Given the description of an element on the screen output the (x, y) to click on. 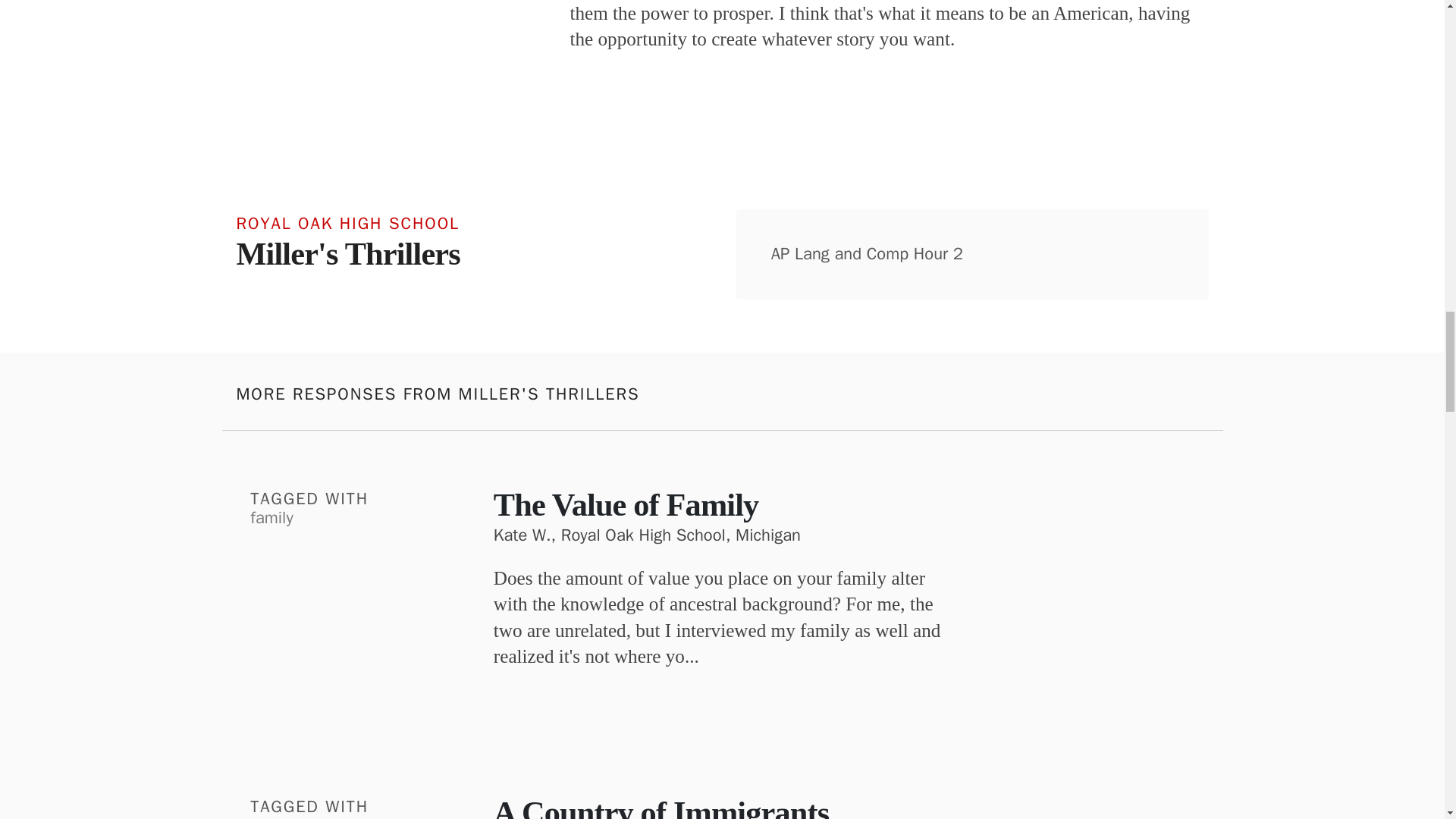
Royal Oak High School (387, 221)
